Given the description of an element on the screen output the (x, y) to click on. 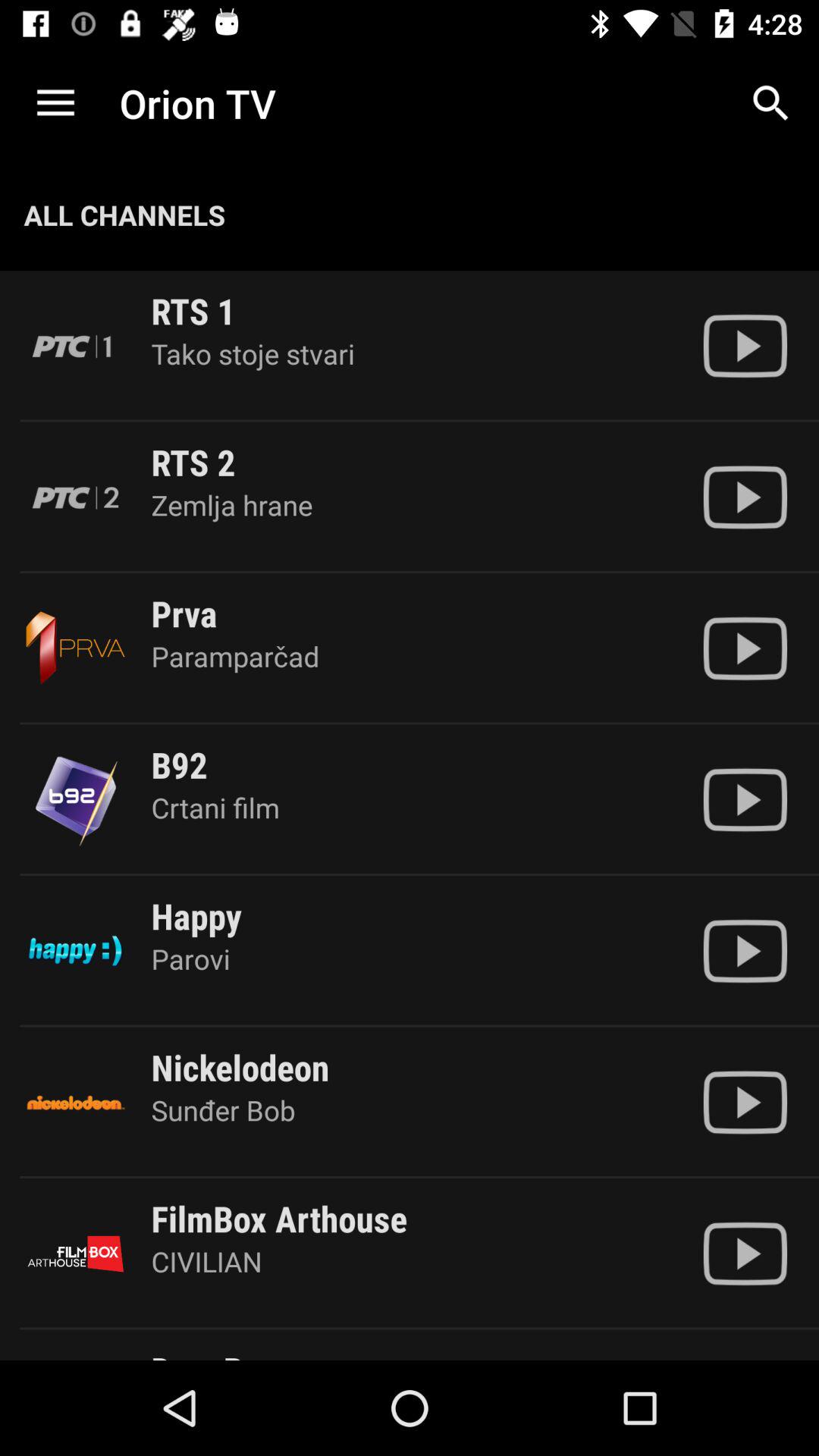
turn on item next to orion tv app (771, 103)
